Given the description of an element on the screen output the (x, y) to click on. 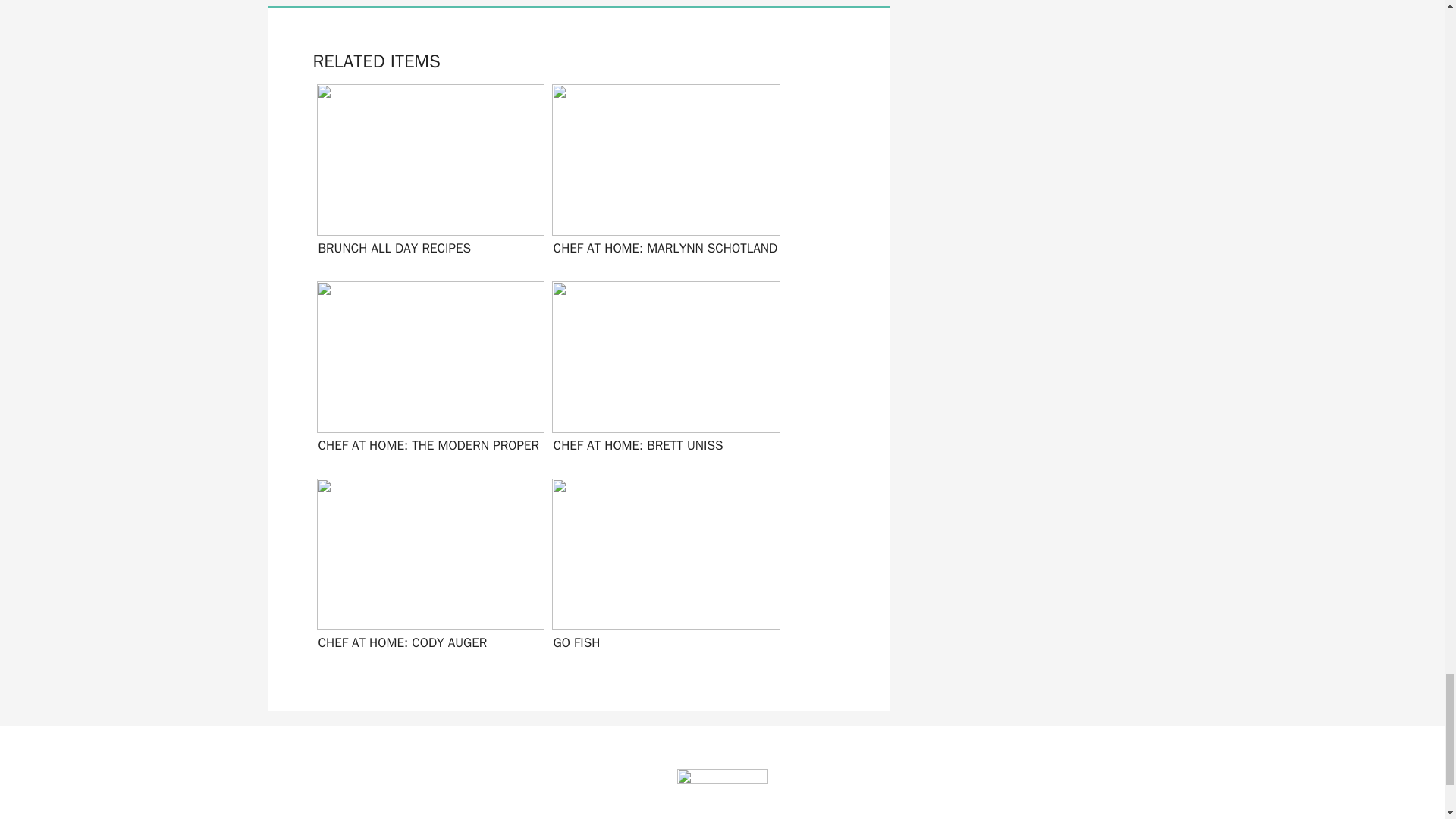
GO FISH (662, 569)
CHEF AT HOME: THE MODERN PROPER (426, 371)
CHEF AT HOME: MARLYNN SCHOTLAND (662, 175)
Chef at Home: Cody Auger (426, 569)
Chef at Home: Brett Uniss (662, 371)
BRUNCH ALL DAY RECIPES (426, 175)
CHEF AT HOME: CODY AUGER (426, 569)
CHEF AT HOME: BRETT UNISS (662, 371)
Chef at Home: The Modern Proper (426, 371)
Chef at Home: Marlynn Schotland (662, 175)
